Given the description of an element on the screen output the (x, y) to click on. 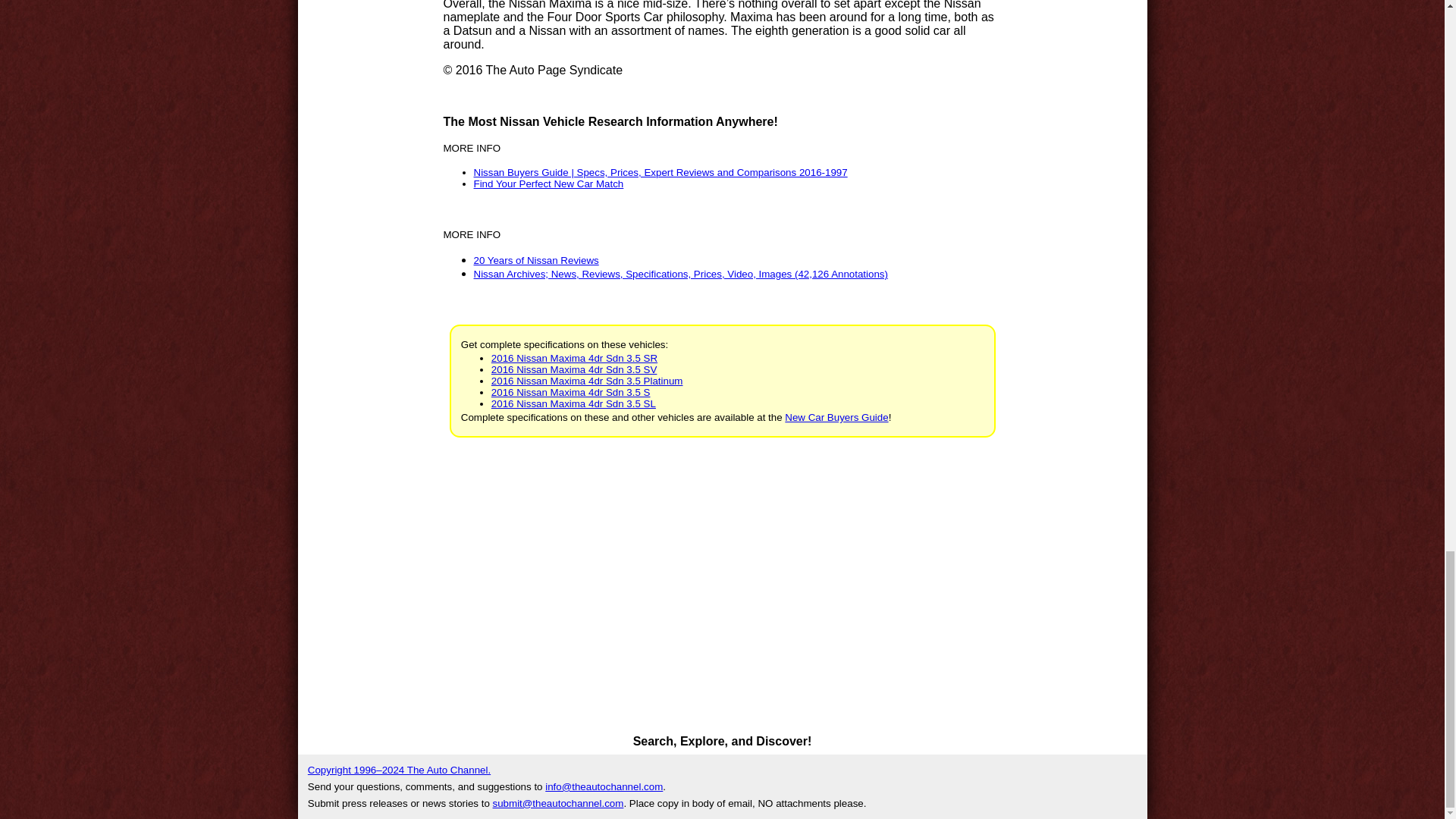
20 Years of Nissan Reviews (535, 260)
2016 Nissan Maxima 4dr Sdn 3.5 SV (575, 369)
2016 Nissan Maxima 4dr Sdn 3.5 SR (575, 357)
2016 Nissan Maxima 4dr Sdn 3.5 S (571, 392)
Find Your Perfect New Car Match (548, 183)
2016 Nissan Maxima 4dr Sdn 3.5 Platinum (587, 380)
2016 Nissan Maxima 4dr Sdn 3.5 SL (574, 403)
